Given the description of an element on the screen output the (x, y) to click on. 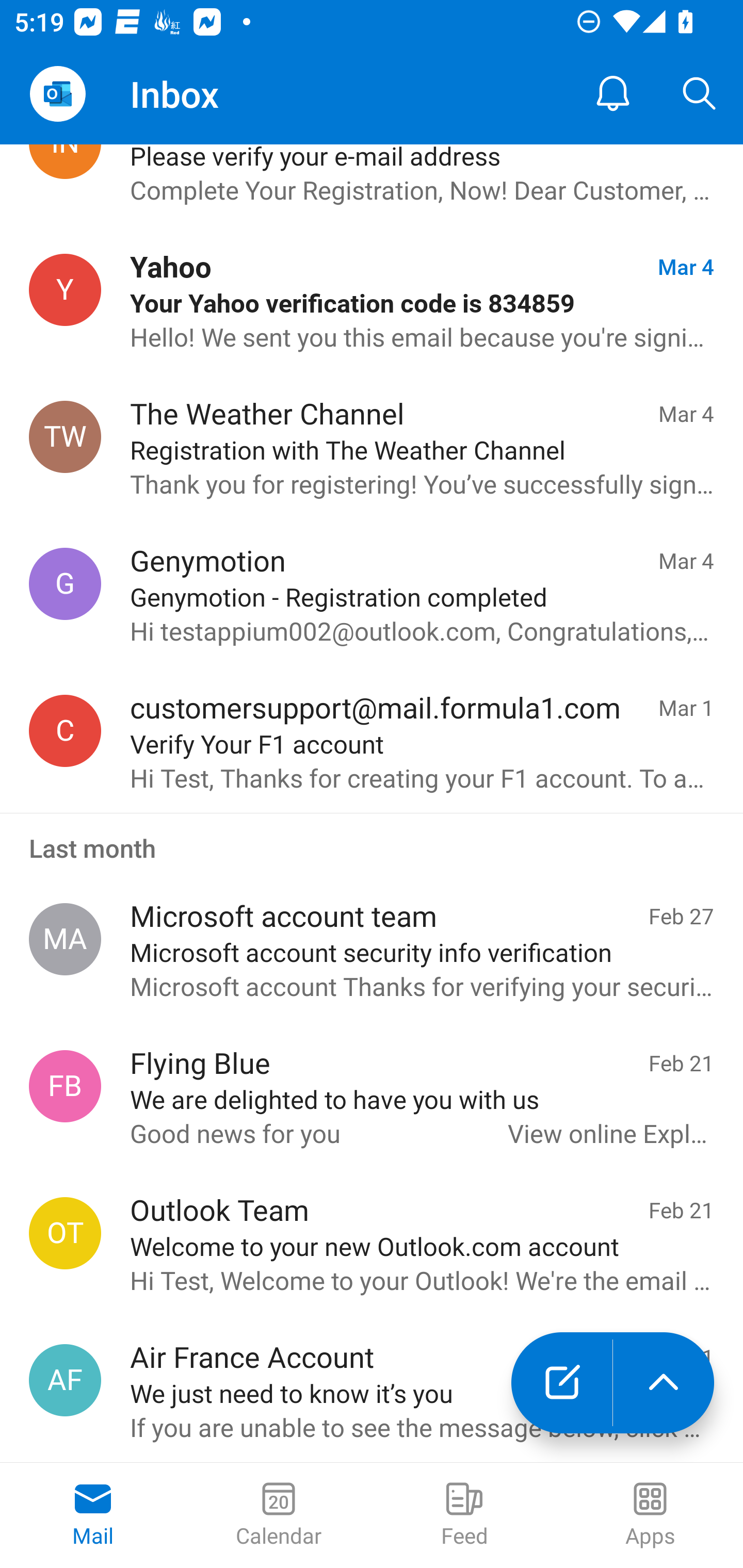
Notification Center (612, 93)
Search, ,  (699, 93)
Open Navigation Drawer (57, 94)
Yahoo, no-reply@cc.yahoo-inc.com (64, 290)
The Weather Channel, noreply@weather.com (64, 437)
Genymotion, genymotion-activation@genymobile.com (64, 583)
Flying Blue, do_not_reply@info-flyingblue.com (64, 1086)
Outlook Team, no-reply@microsoft.com (64, 1233)
New mail (561, 1382)
launch the extended action menu (663, 1382)
Air France Account, account@infos-airfrance.com (64, 1379)
Calendar (278, 1515)
Feed (464, 1515)
Apps (650, 1515)
